Given the description of an element on the screen output the (x, y) to click on. 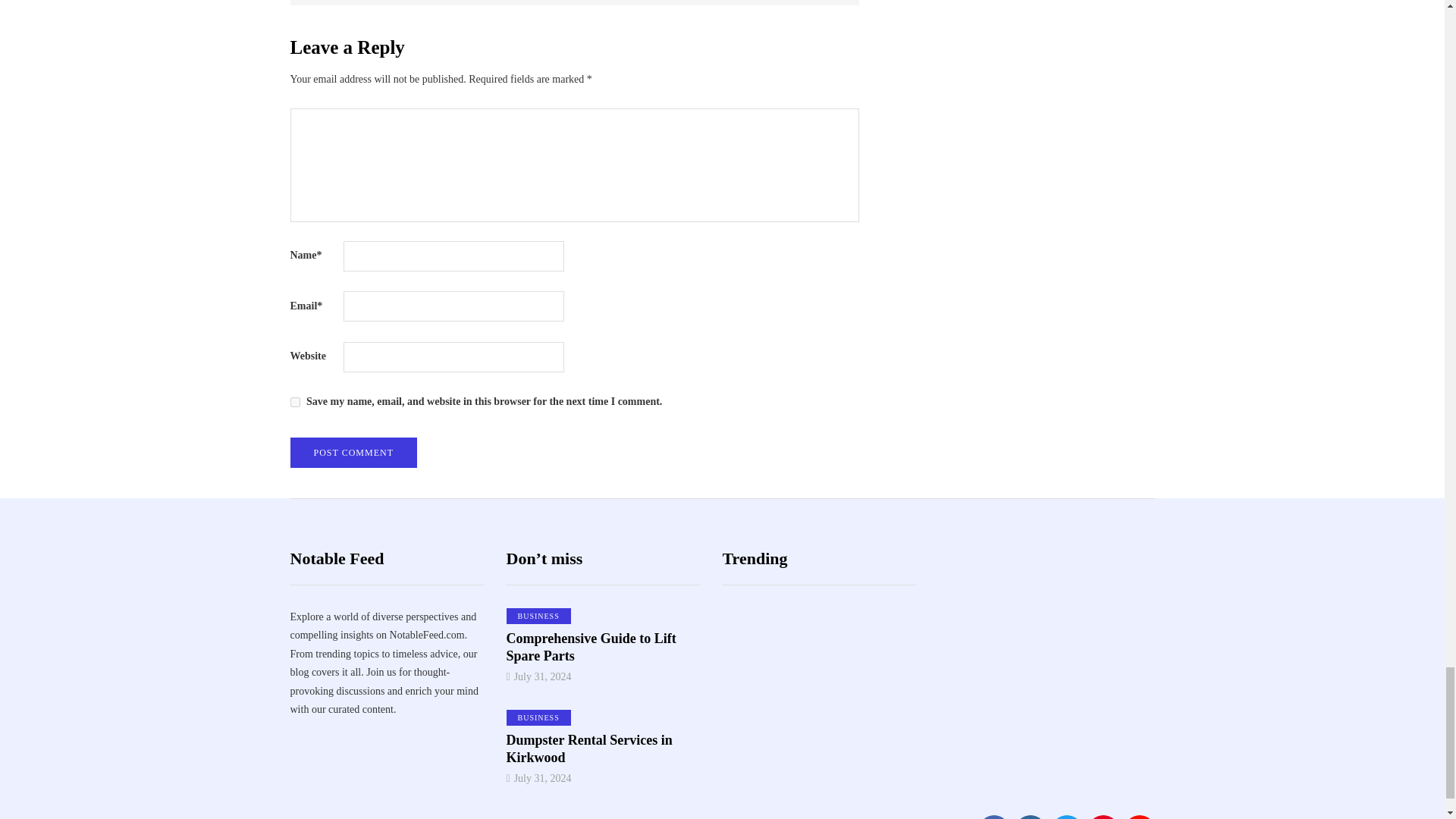
yes (294, 402)
Post comment (352, 452)
